Given the description of an element on the screen output the (x, y) to click on. 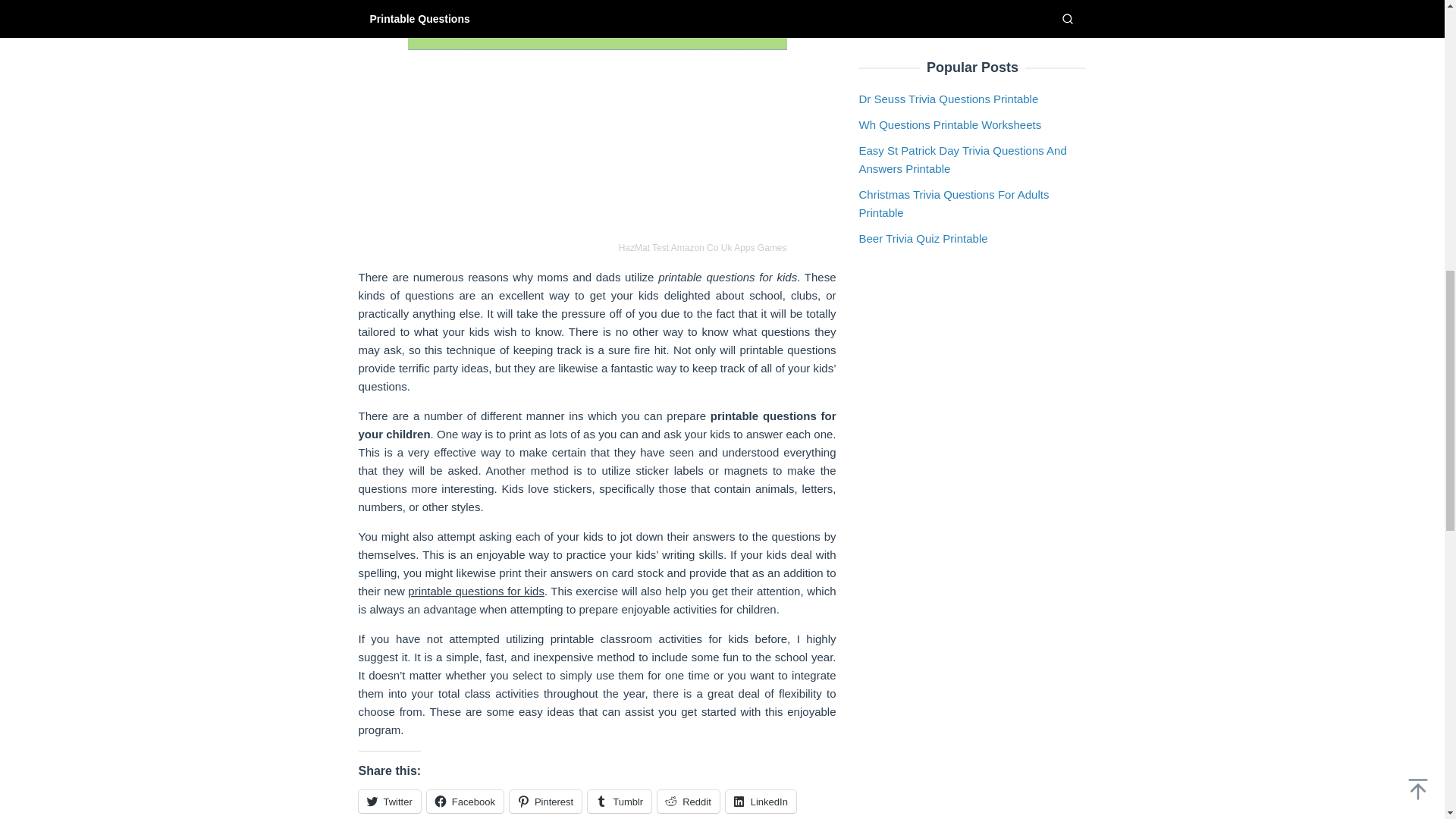
Click to share on Twitter (389, 801)
Click to share on Facebook (464, 801)
HazMat Test Amazon Co Uk Apps Games (597, 117)
Tumblr (619, 801)
Pinterest (544, 801)
Facebook (464, 801)
Reddit (688, 801)
Click to share on Reddit (688, 801)
LinkedIn (760, 801)
Click to share on Pinterest (544, 801)
